Given the description of an element on the screen output the (x, y) to click on. 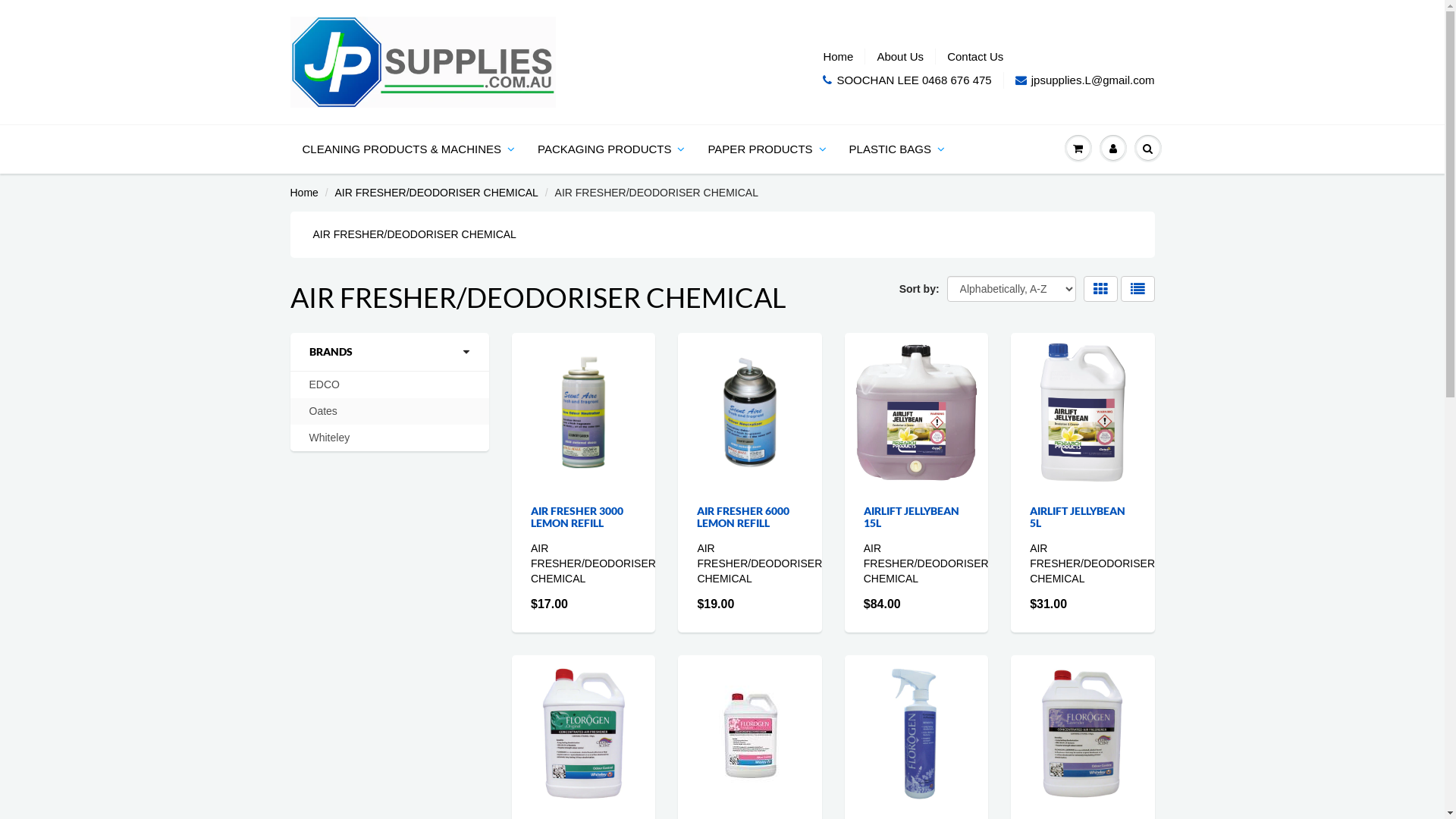
Home Element type: text (837, 56)
PACKAGING PRODUCTS Element type: text (611, 148)
SOOCHAN LEE 0468 676 475 Element type: text (906, 79)
AIR FRESHER 6000 LEMON REFILL Element type: text (742, 516)
About Us Element type: text (899, 56)
BRANDS Element type: text (389, 351)
AIR FRESHER/DEODORISER CHEMICAL Element type: text (436, 192)
PAPER PRODUCTS Element type: text (766, 148)
CLEANING PRODUCTS & MACHINES Element type: text (409, 148)
Contact Us Element type: text (975, 56)
Home Element type: text (303, 192)
List View Element type: hover (1137, 288)
Grid view Element type: hover (1100, 288)
AIR FRESHER 3000 LEMON REFILL Element type: text (576, 516)
jpsupplies.L@gmail.com Element type: text (1084, 79)
AIRLIFT JELLYBEAN 5L Element type: text (1077, 516)
Whiteley Element type: text (329, 437)
EDCO Element type: text (324, 384)
PLASTIC BAGS Element type: text (896, 148)
AIRLIFT JELLYBEAN 15L Element type: text (911, 516)
Oates Element type: text (323, 411)
